Given the description of an element on the screen output the (x, y) to click on. 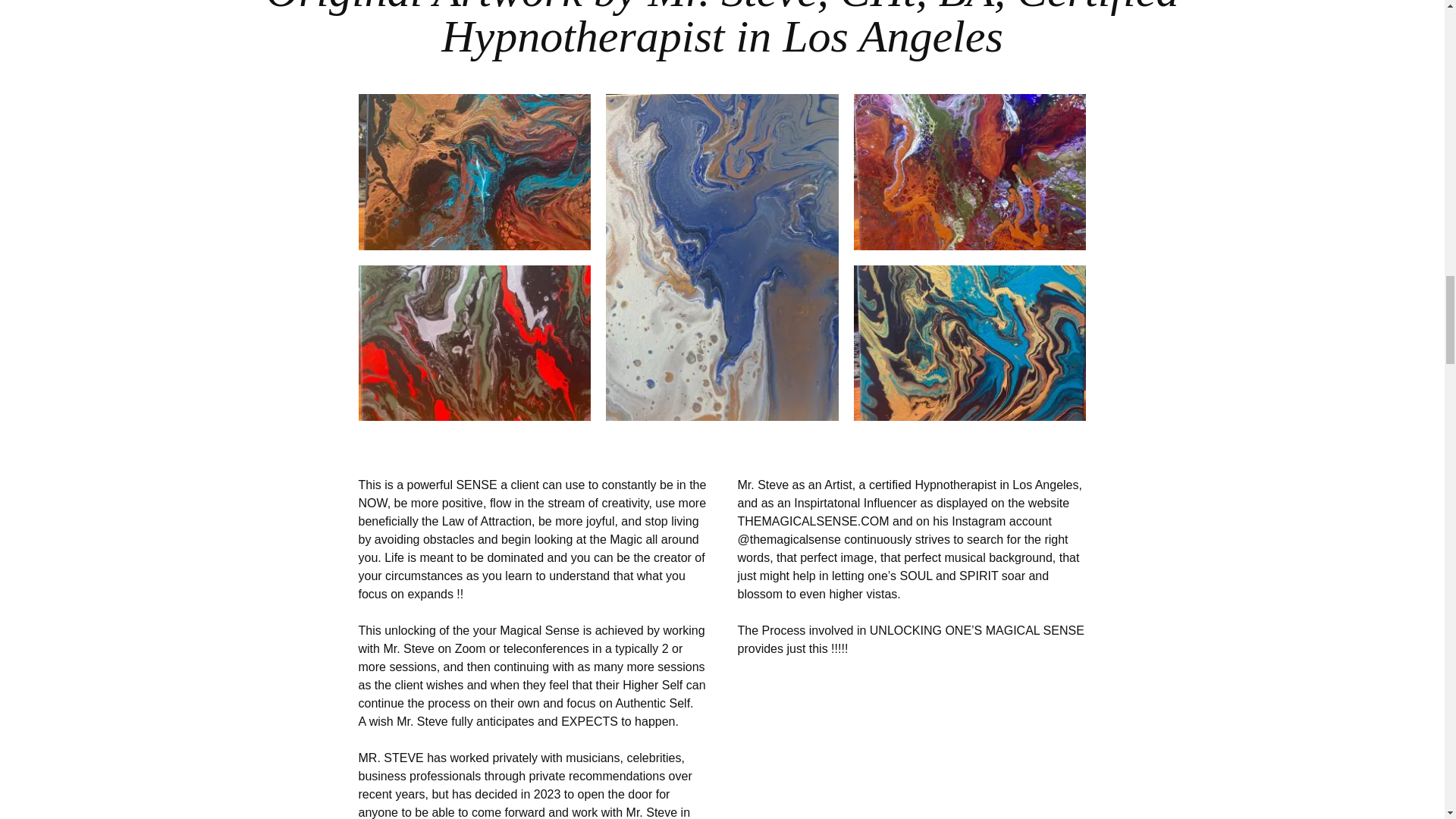
img-14 (474, 171)
img-17 (474, 342)
img-15 (969, 171)
img-18 (969, 342)
